Given the description of an element on the screen output the (x, y) to click on. 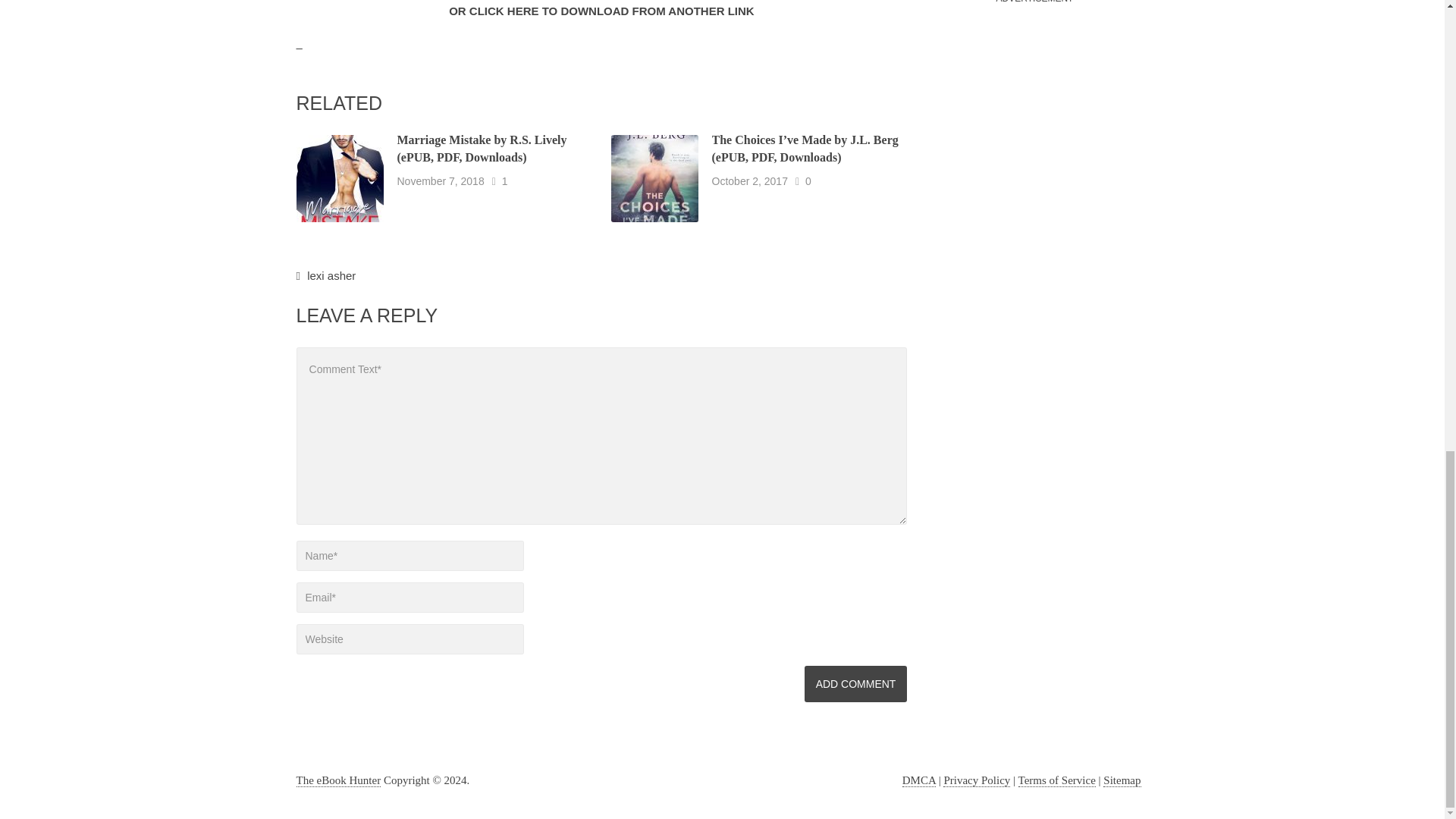
OR CLICK HERE TO DOWNLOAD FROM ANOTHER LINK (601, 10)
Add Comment (856, 683)
lexi asher (331, 275)
Add Comment (856, 683)
